Given the description of an element on the screen output the (x, y) to click on. 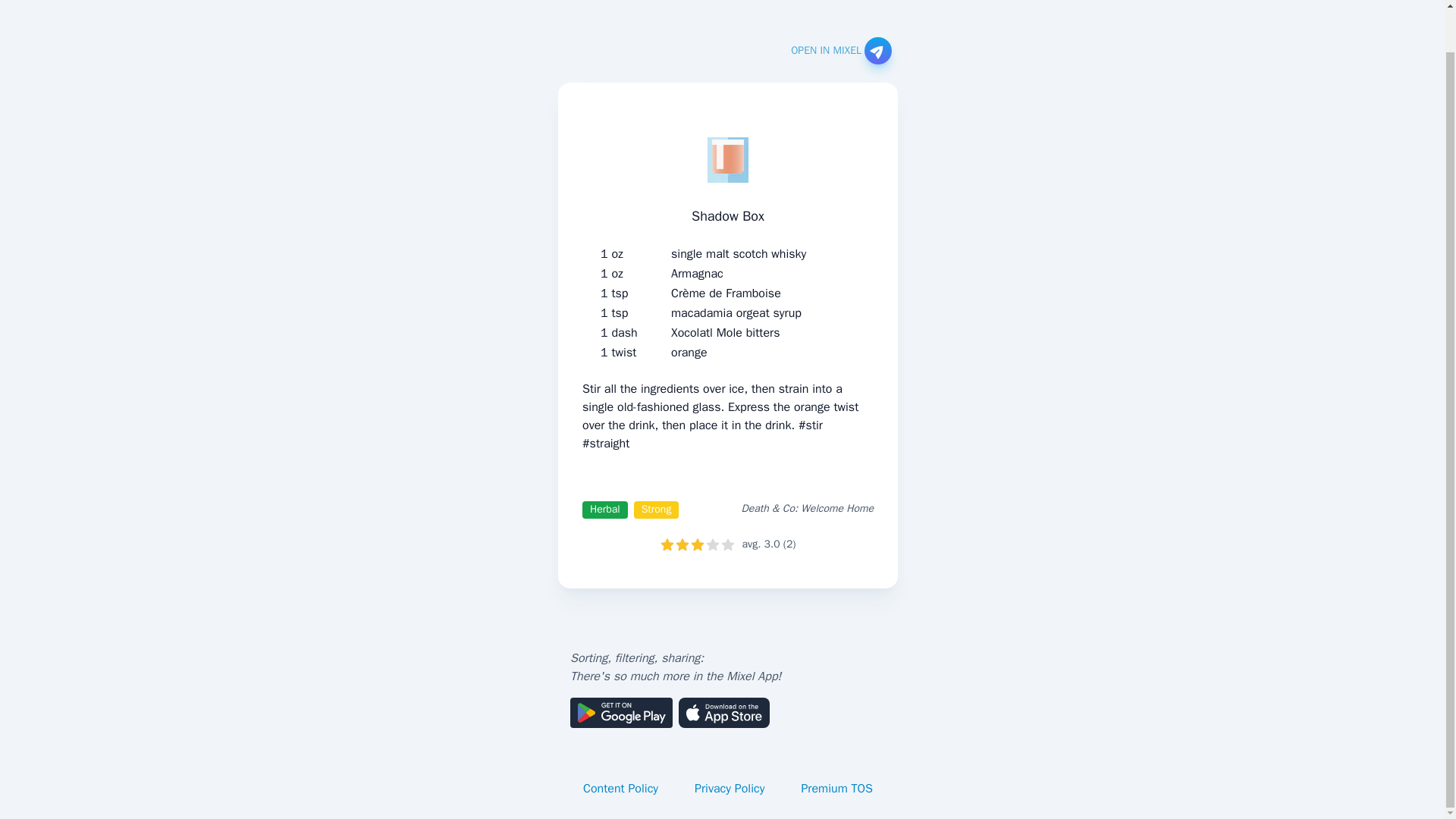
macadamia orgeat syrup (736, 312)
Armagnac (697, 273)
Premium TOS (836, 788)
Xocolatl Mole bitters (724, 332)
single malt scotch whisky (738, 253)
Privacy Policy (729, 788)
orange (689, 352)
Content Policy (620, 788)
OPEN IN MIXEL (840, 50)
